Given the description of an element on the screen output the (x, y) to click on. 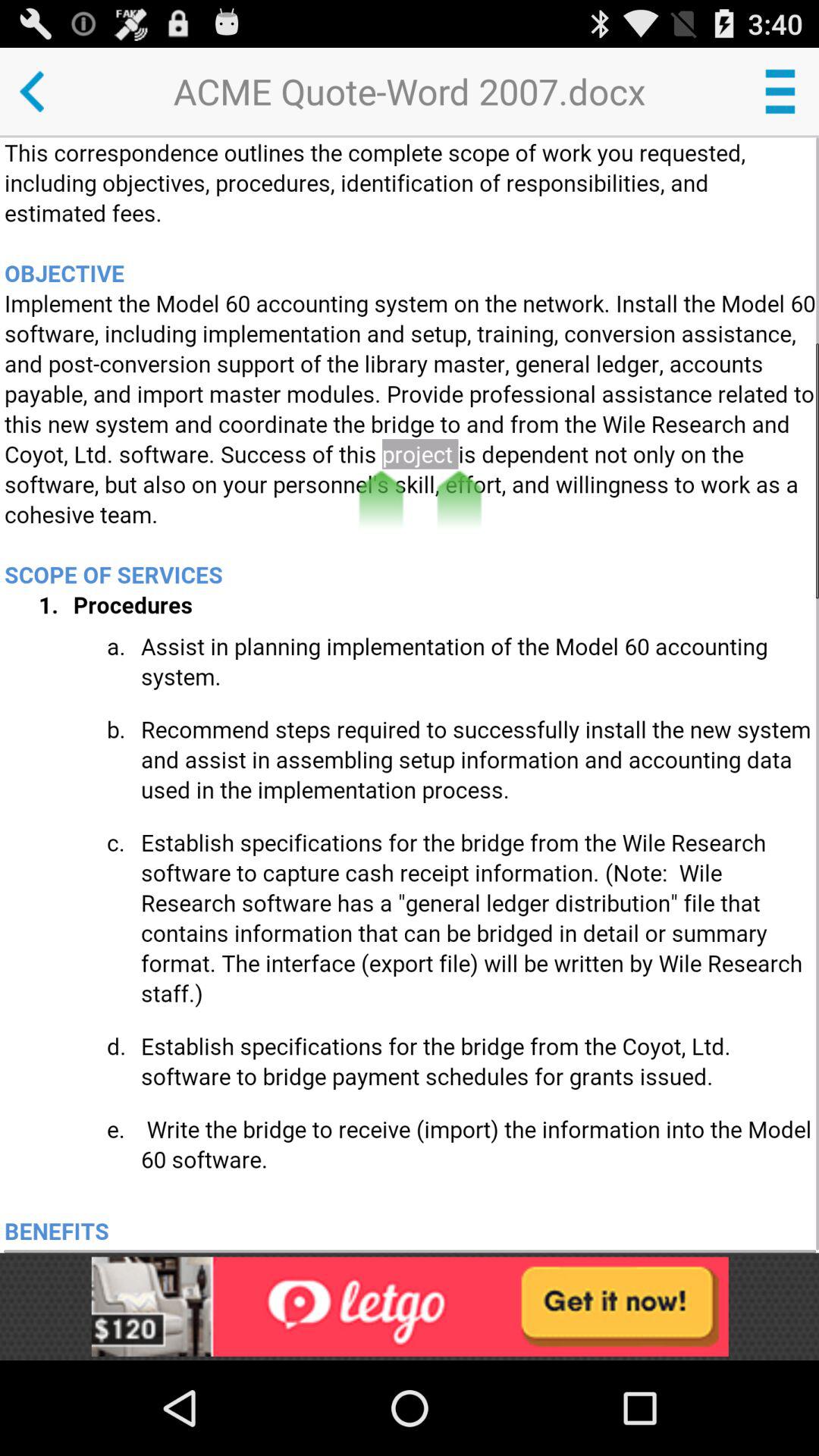
discretion (411, 694)
